Given the description of an element on the screen output the (x, y) to click on. 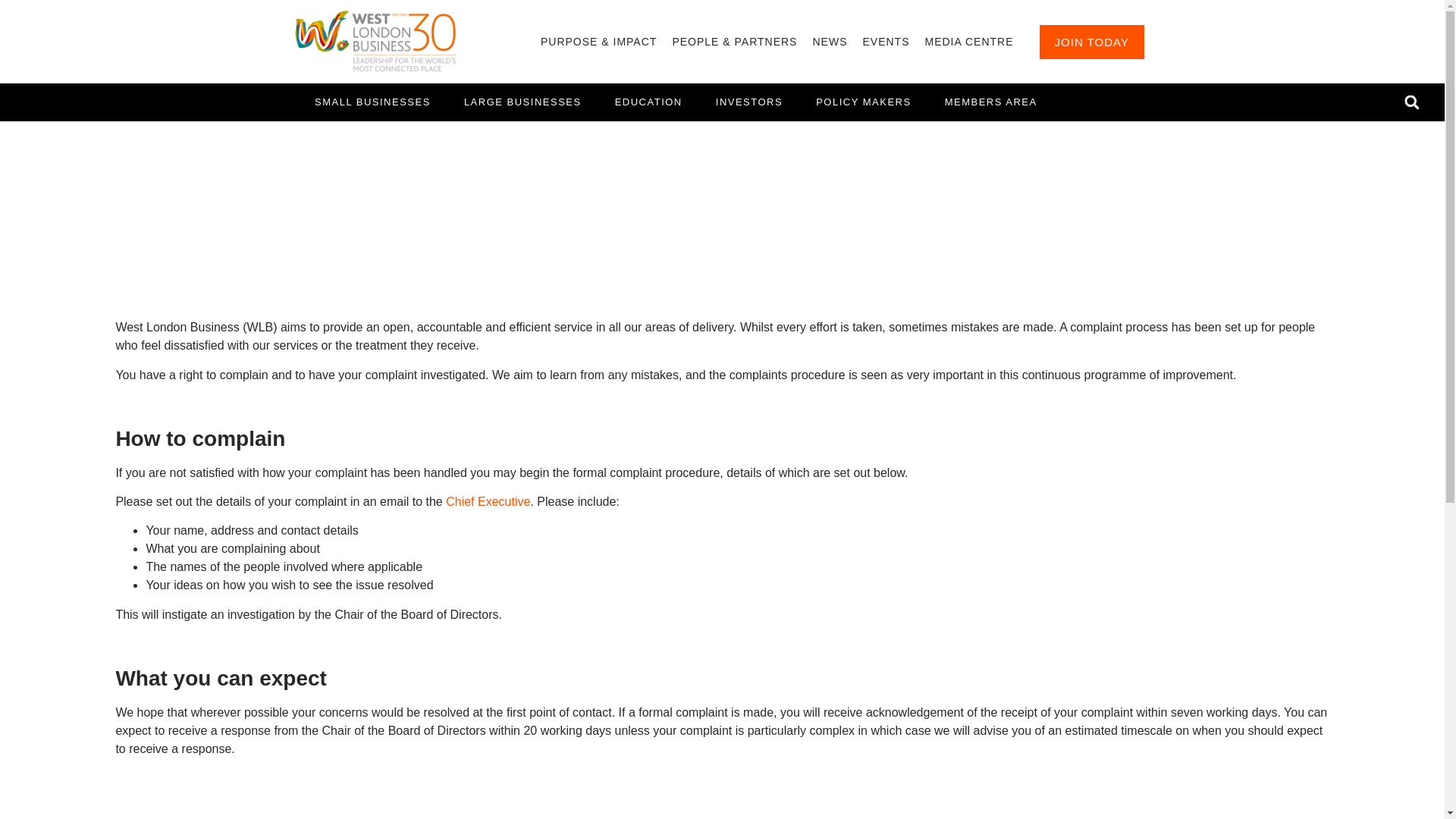
EDUCATION (648, 102)
MEMBERS AREA (991, 102)
SMALL BUSINESSES (372, 102)
JOIN TODAY (1091, 41)
MEDIA CENTRE (968, 41)
INVESTORS (748, 102)
LARGE BUSINESSES (522, 102)
NEWS (829, 41)
EVENTS (885, 41)
POLICY MAKERS (863, 102)
